Given the description of an element on the screen output the (x, y) to click on. 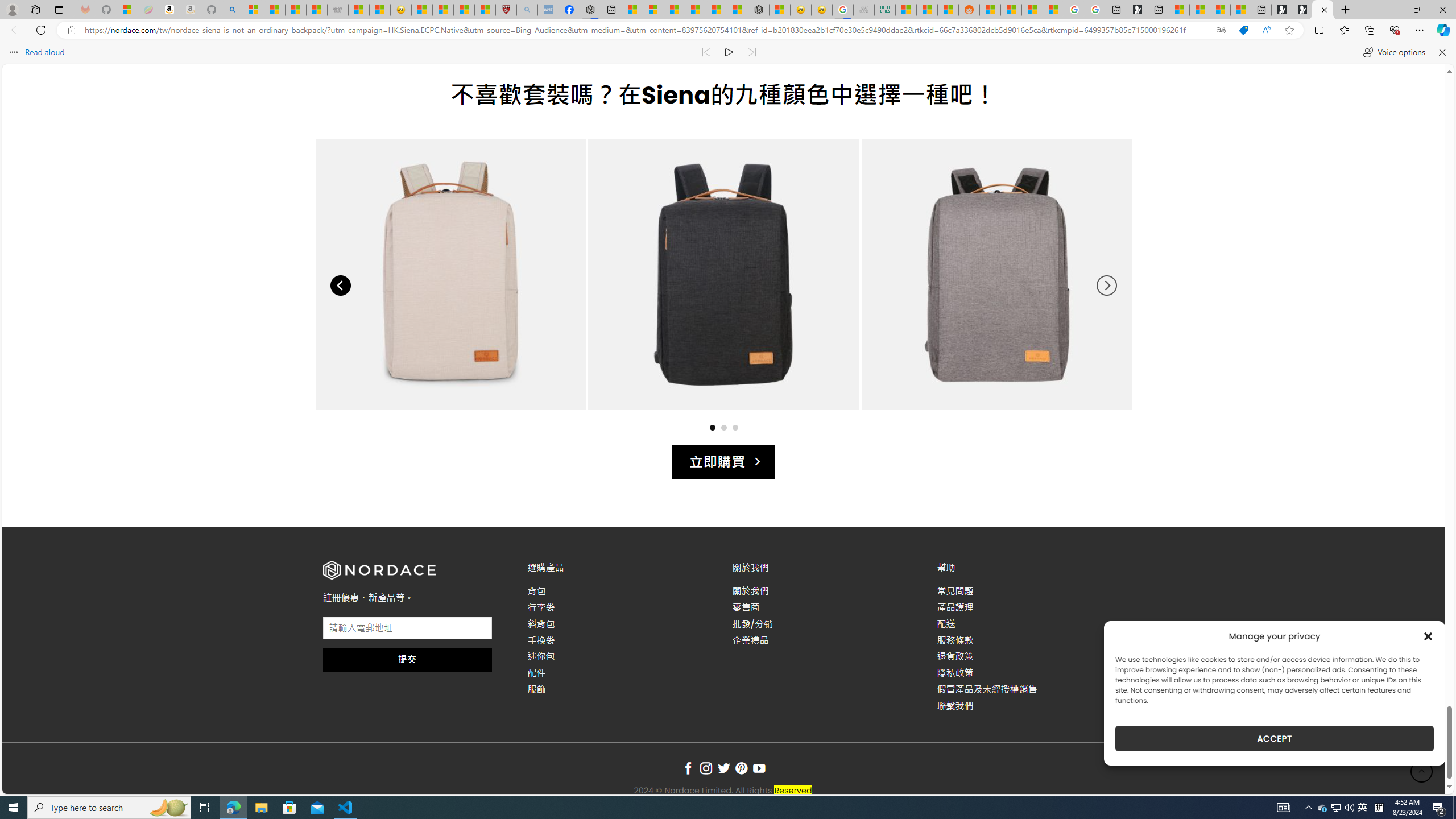
Follow on Pinterest (740, 768)
Class: flickity-button-icon (1106, 285)
Recipes - MSN (421, 9)
